Given the description of an element on the screen output the (x, y) to click on. 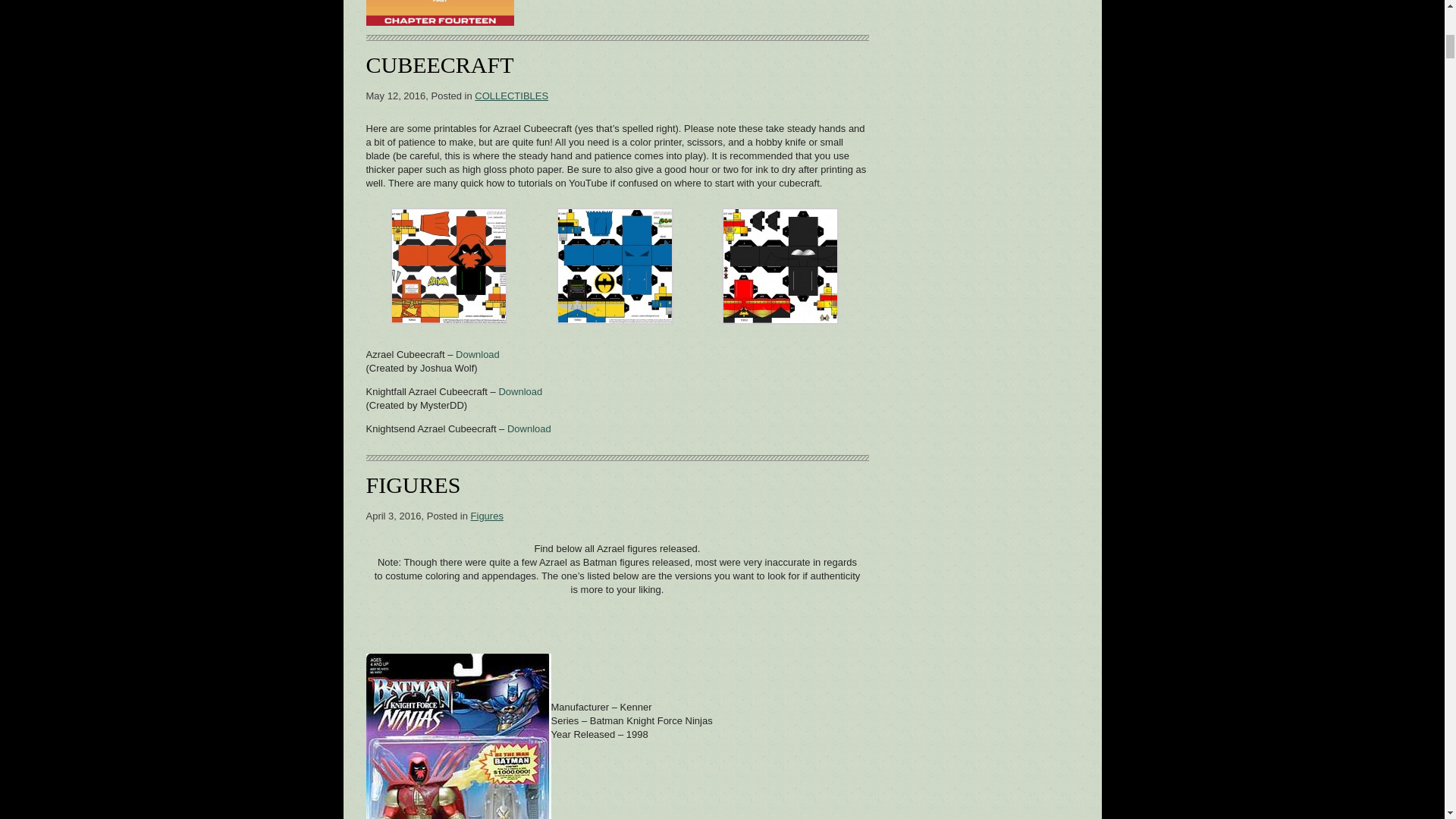
Download (528, 428)
Permalink to Figures (412, 484)
COLLECTIBLES (511, 95)
Download (519, 391)
FIGURES (412, 484)
Permalink to Cubeecraft (439, 64)
CUBEECRAFT (439, 64)
Download (477, 354)
